Given the description of an element on the screen output the (x, y) to click on. 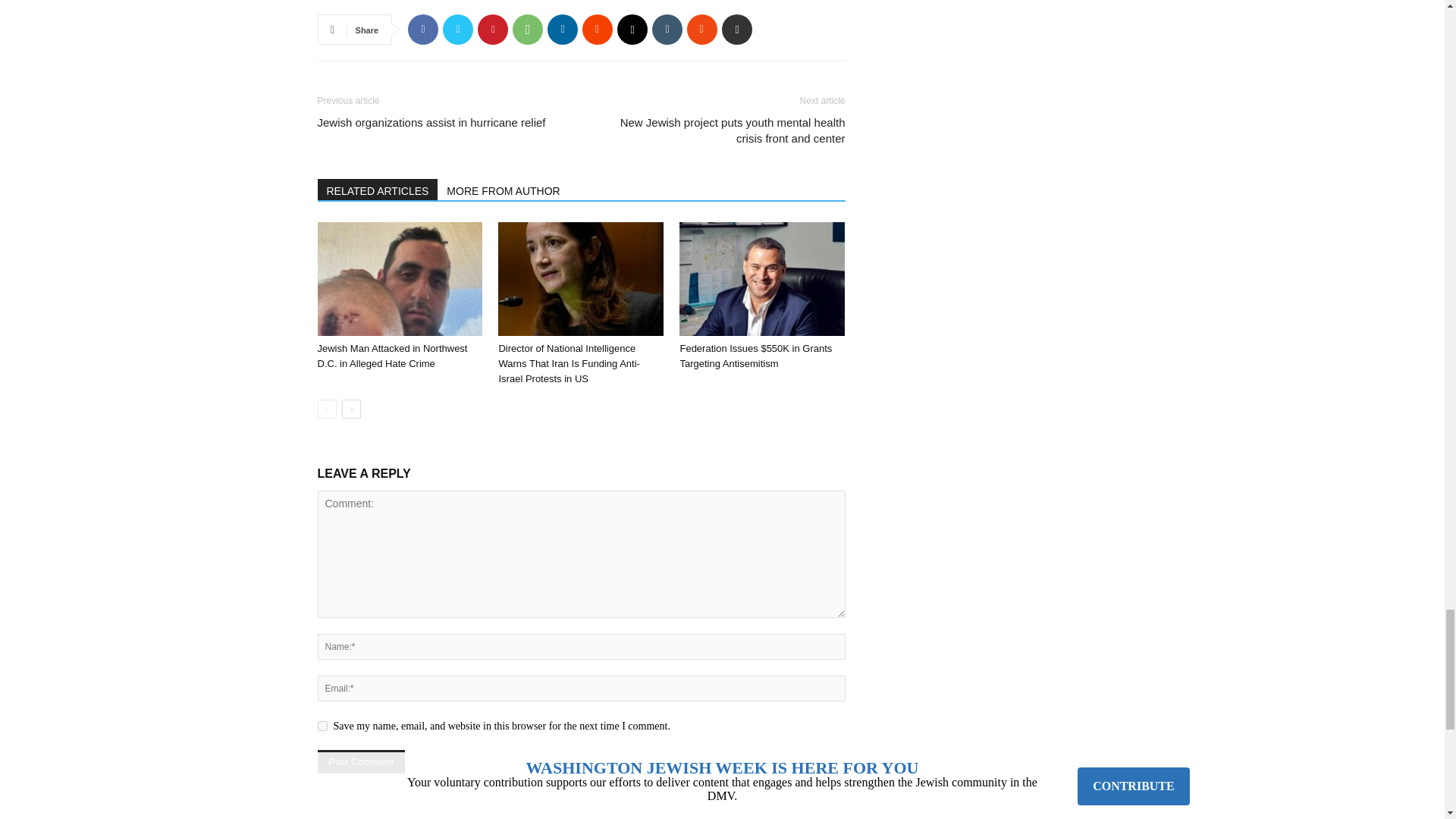
Post Comment (360, 761)
yes (321, 726)
